Given the description of an element on the screen output the (x, y) to click on. 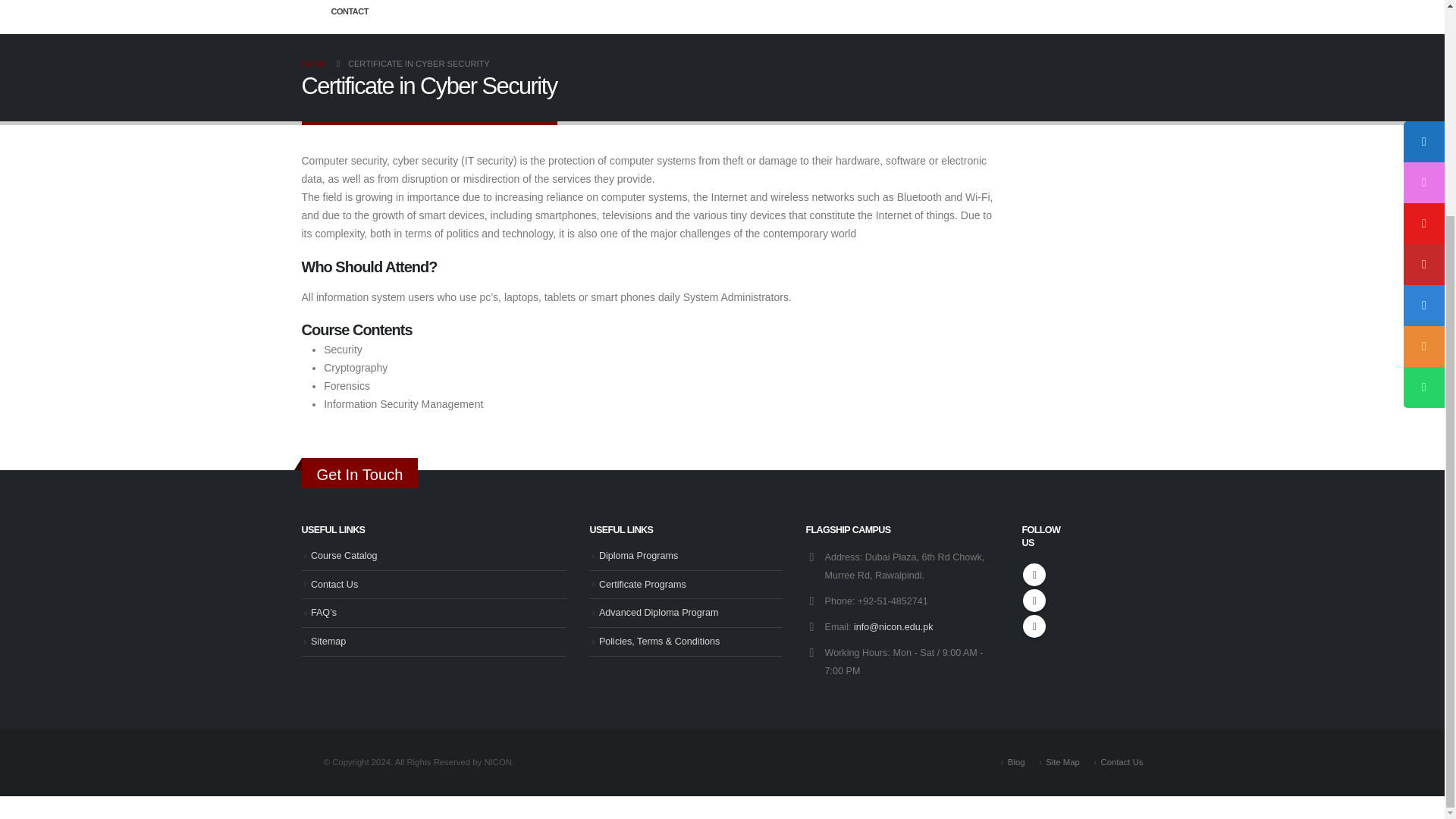
Go to Home Page (313, 63)
Youtube (1034, 599)
Facebook (1034, 574)
